Given the description of an element on the screen output the (x, y) to click on. 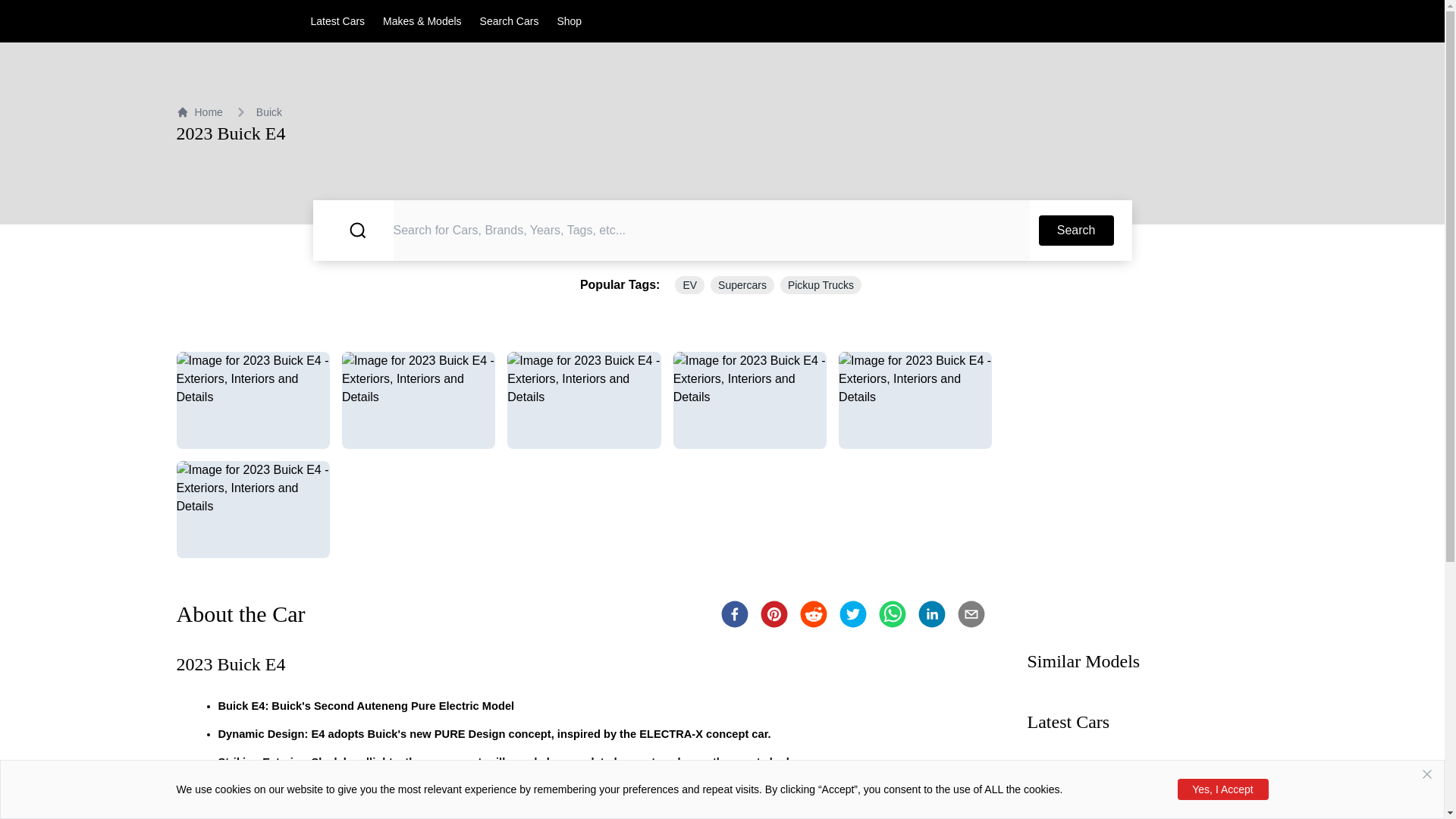
Search Cars (509, 20)
Image for 2023 Buick E4 - Exteriors, Interiors and Details (252, 400)
Image for 2023 Buick E4 - Exteriors, Interiors and Details (252, 509)
Shop (568, 20)
Buick (269, 111)
Image for 2023 Buick E4 - Exteriors, Interiors and Details (749, 400)
Image for 2023 Buick E4 - Exteriors, Interiors and Details (583, 400)
Search (1076, 230)
Latest Cars (338, 20)
Image for 2023 Buick E4 - Exteriors, Interiors and Details (418, 400)
